Given the description of an element on the screen output the (x, y) to click on. 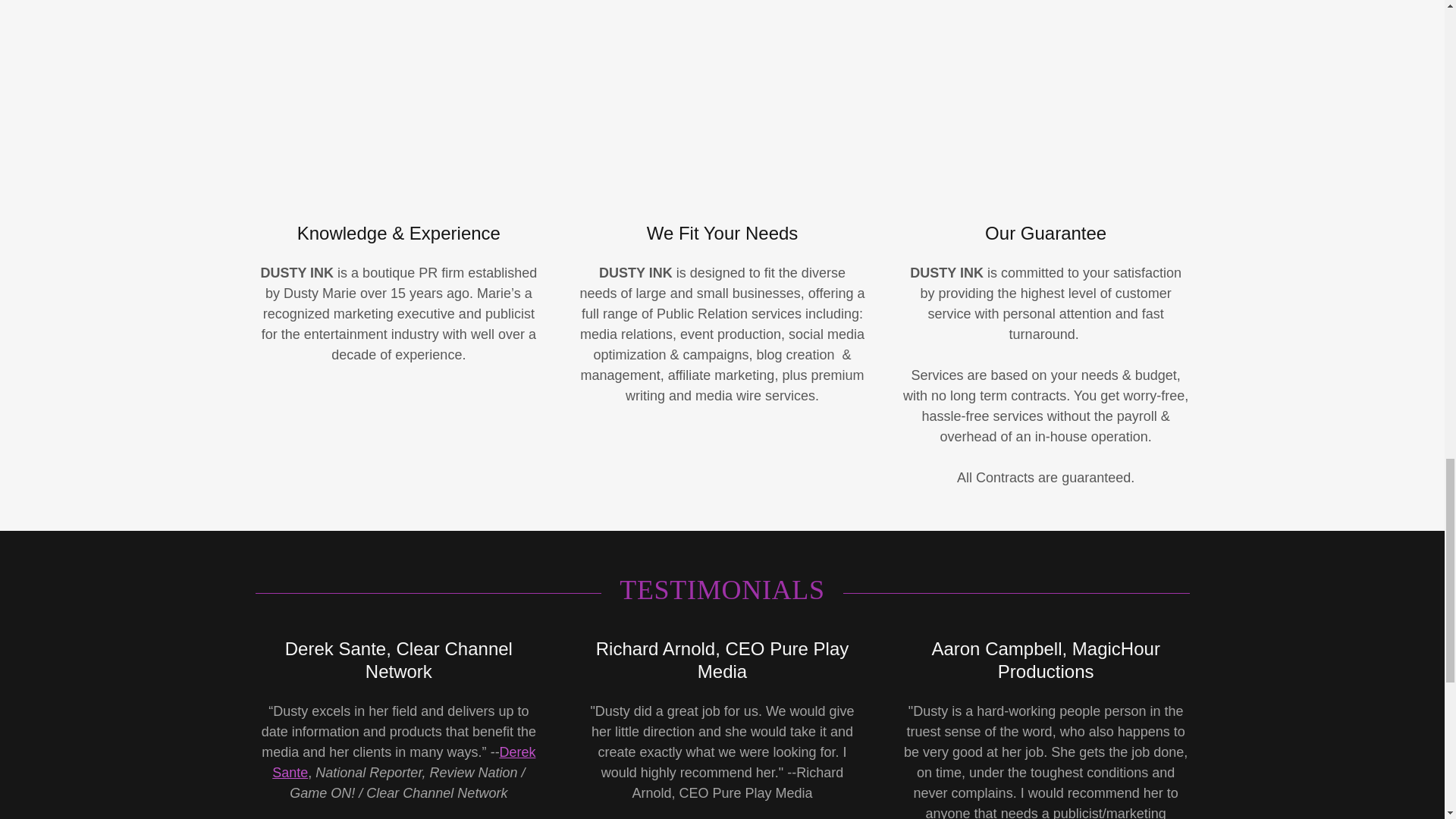
Derek Sante (403, 762)
